Given the description of an element on the screen output the (x, y) to click on. 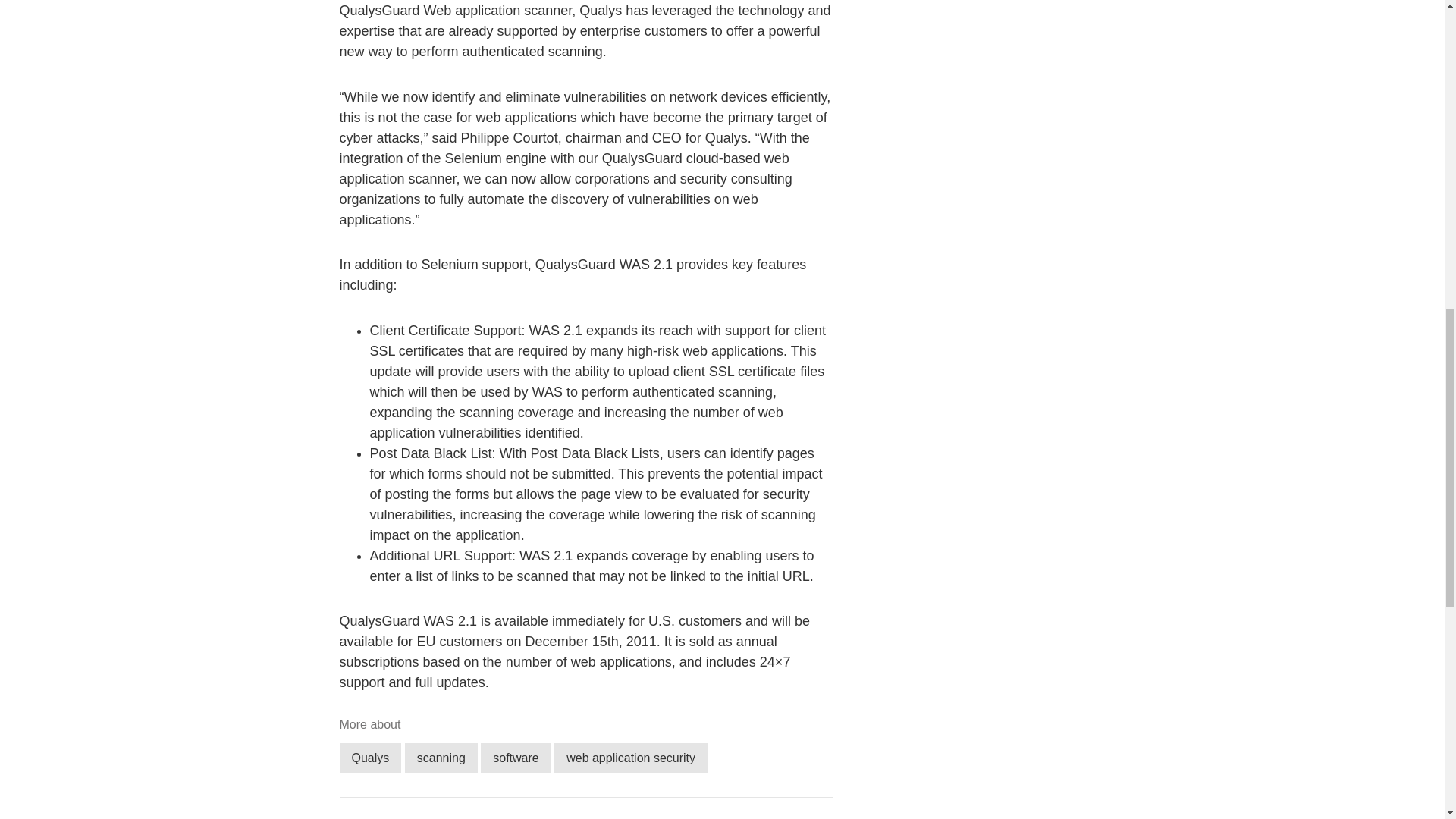
software (515, 757)
Qualys (370, 757)
scanning (440, 757)
software (515, 757)
web application security (630, 757)
web application security (630, 757)
scanning (440, 757)
Qualys (370, 757)
